Given the description of an element on the screen output the (x, y) to click on. 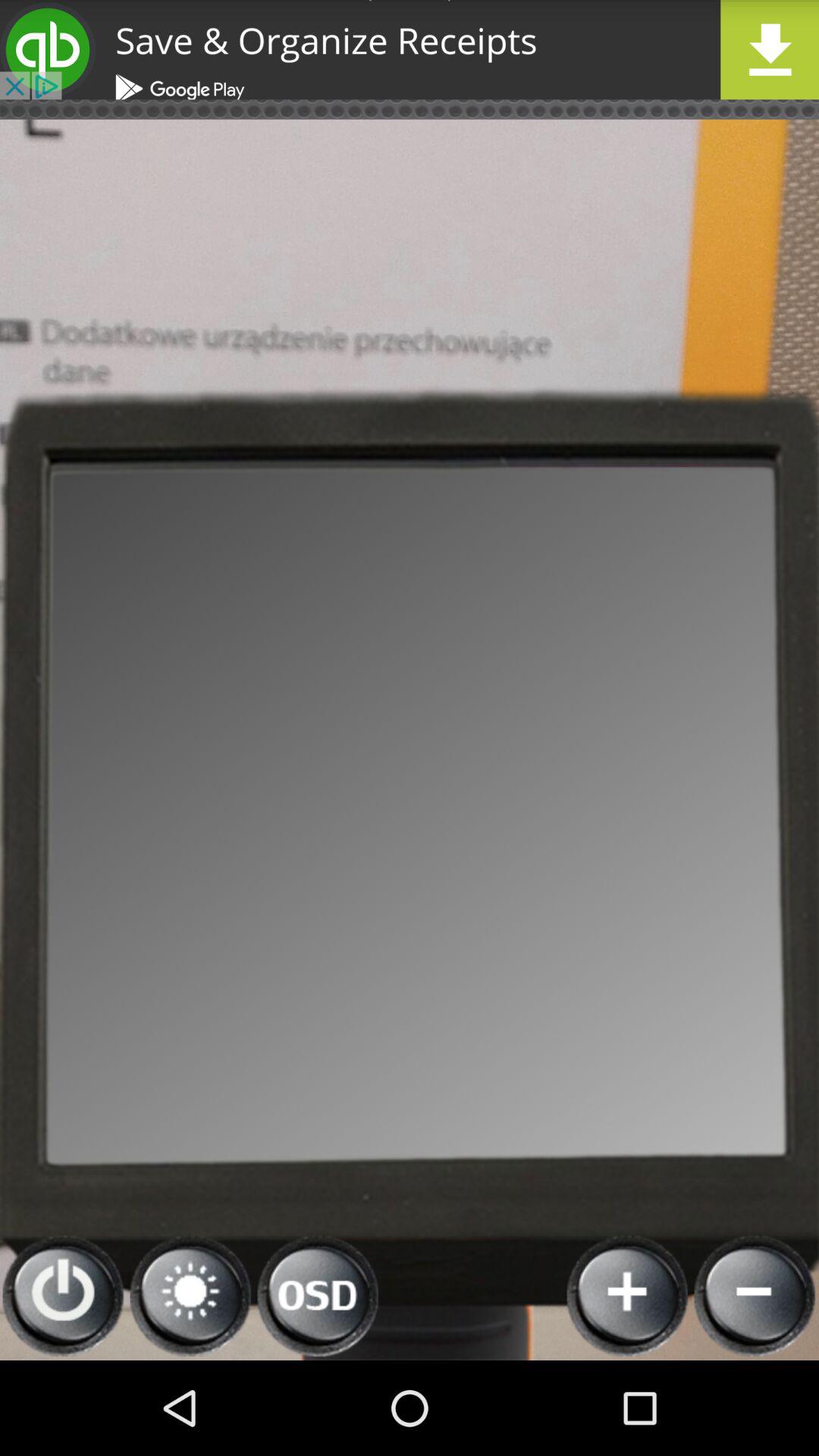
reduce the volume (755, 1296)
